Given the description of an element on the screen output the (x, y) to click on. 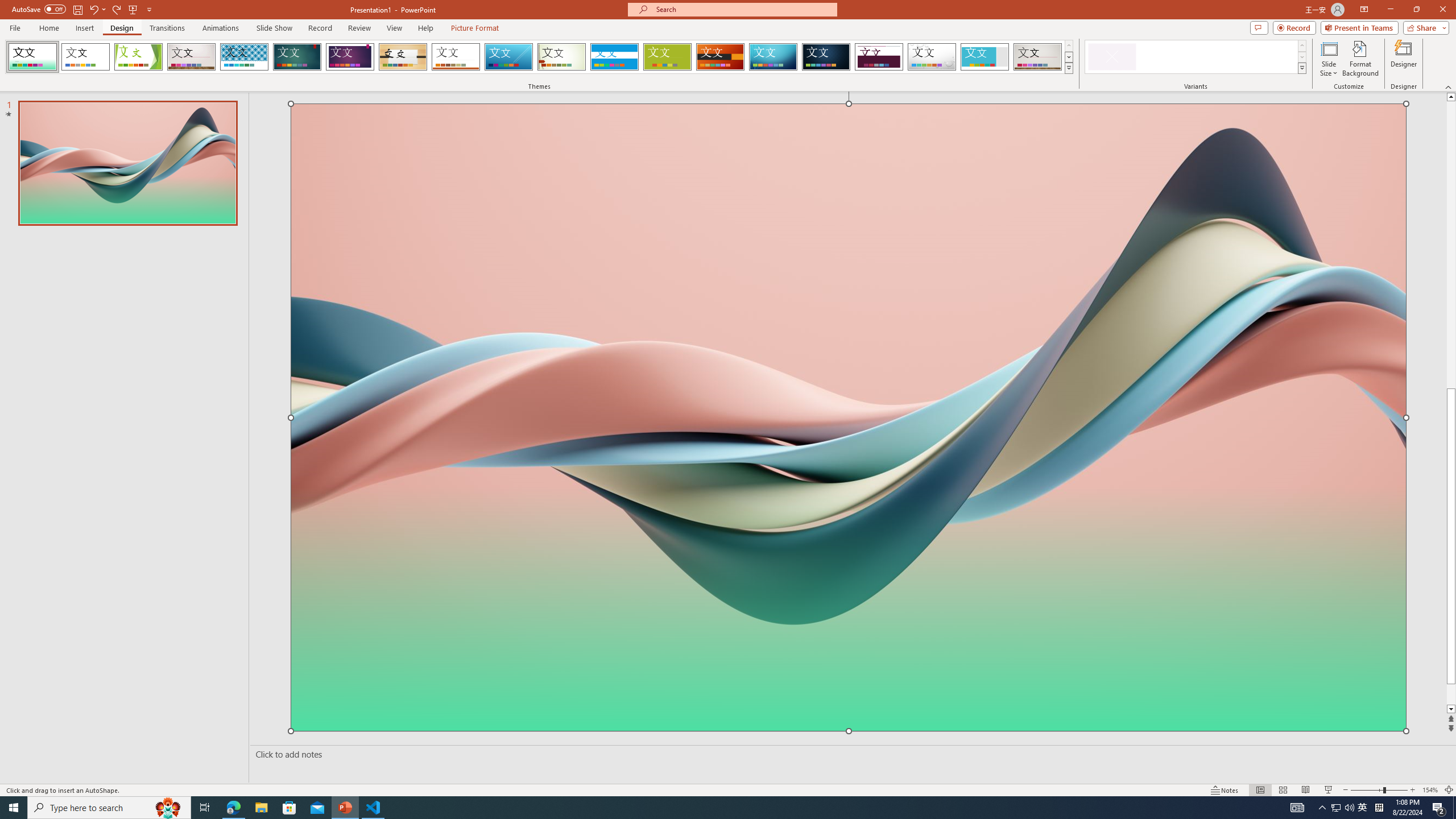
Dividend (879, 56)
Row Down (1301, 56)
Slice (508, 56)
Ion Boardroom (350, 56)
Frame (984, 56)
Banded (614, 56)
Line up (1450, 96)
Damask (826, 56)
